Given the description of an element on the screen output the (x, y) to click on. 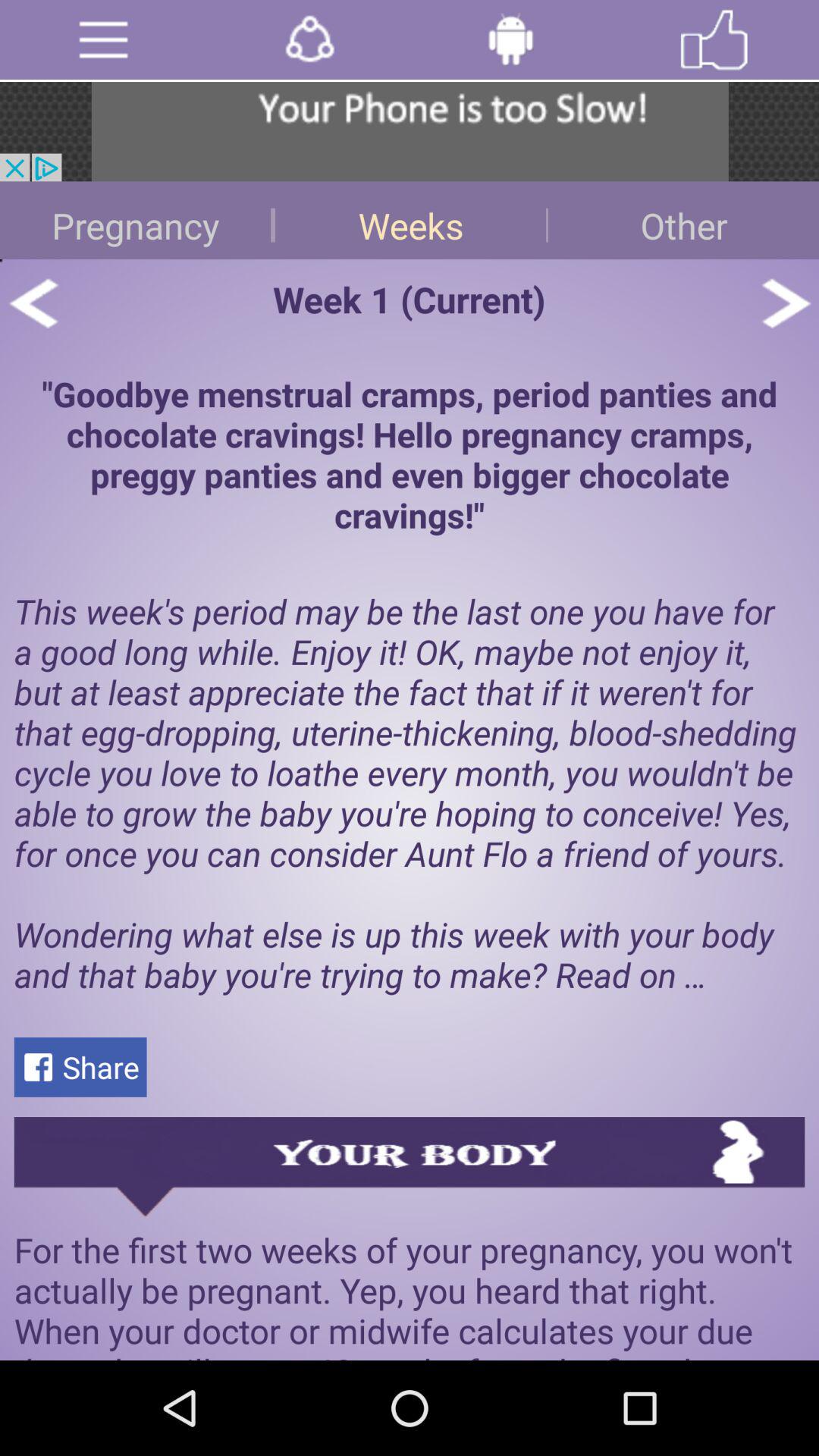
toggle android (510, 39)
